Given the description of an element on the screen output the (x, y) to click on. 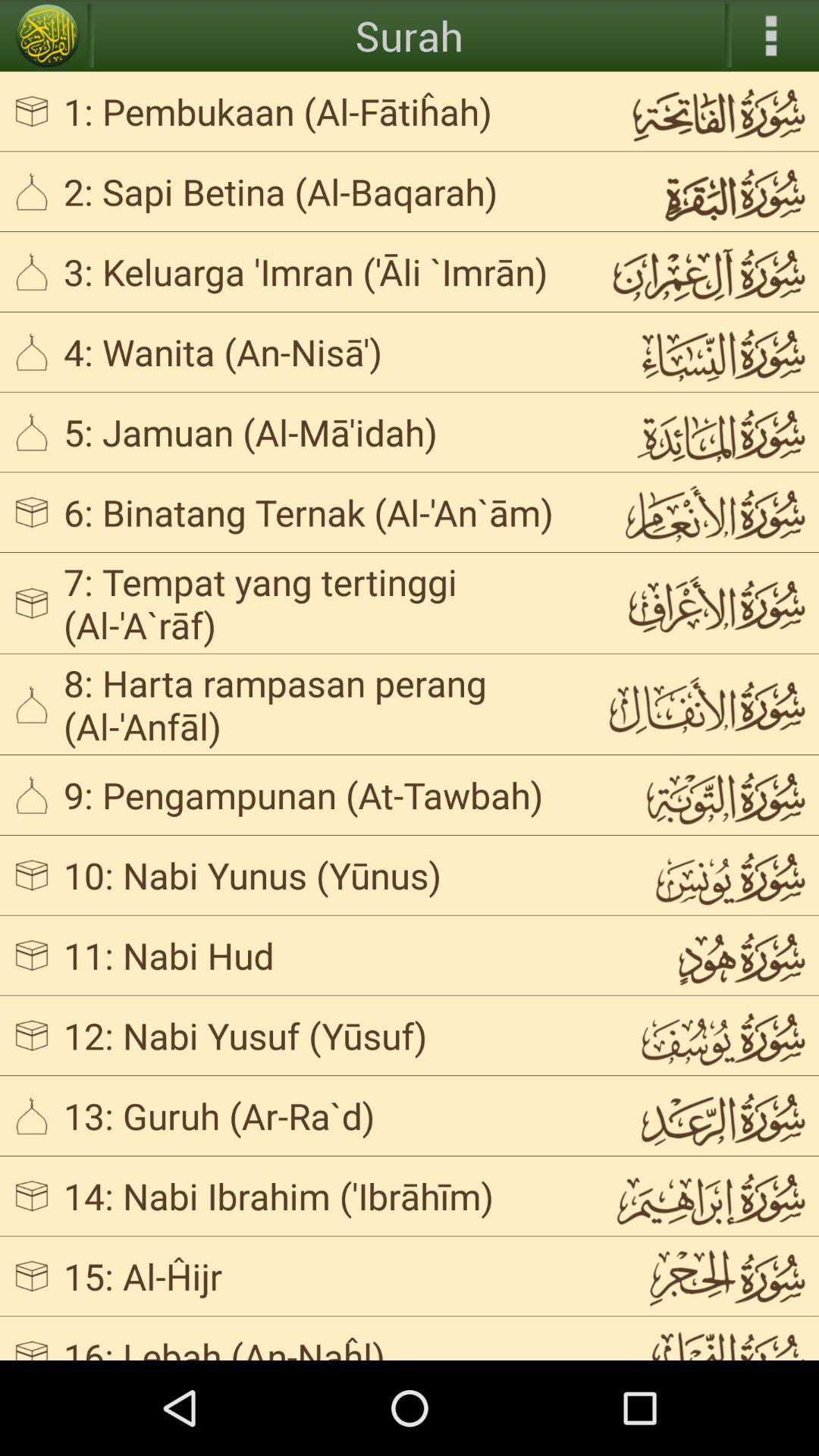
scroll until 1 pembukaan al app (322, 110)
